Given the description of an element on the screen output the (x, y) to click on. 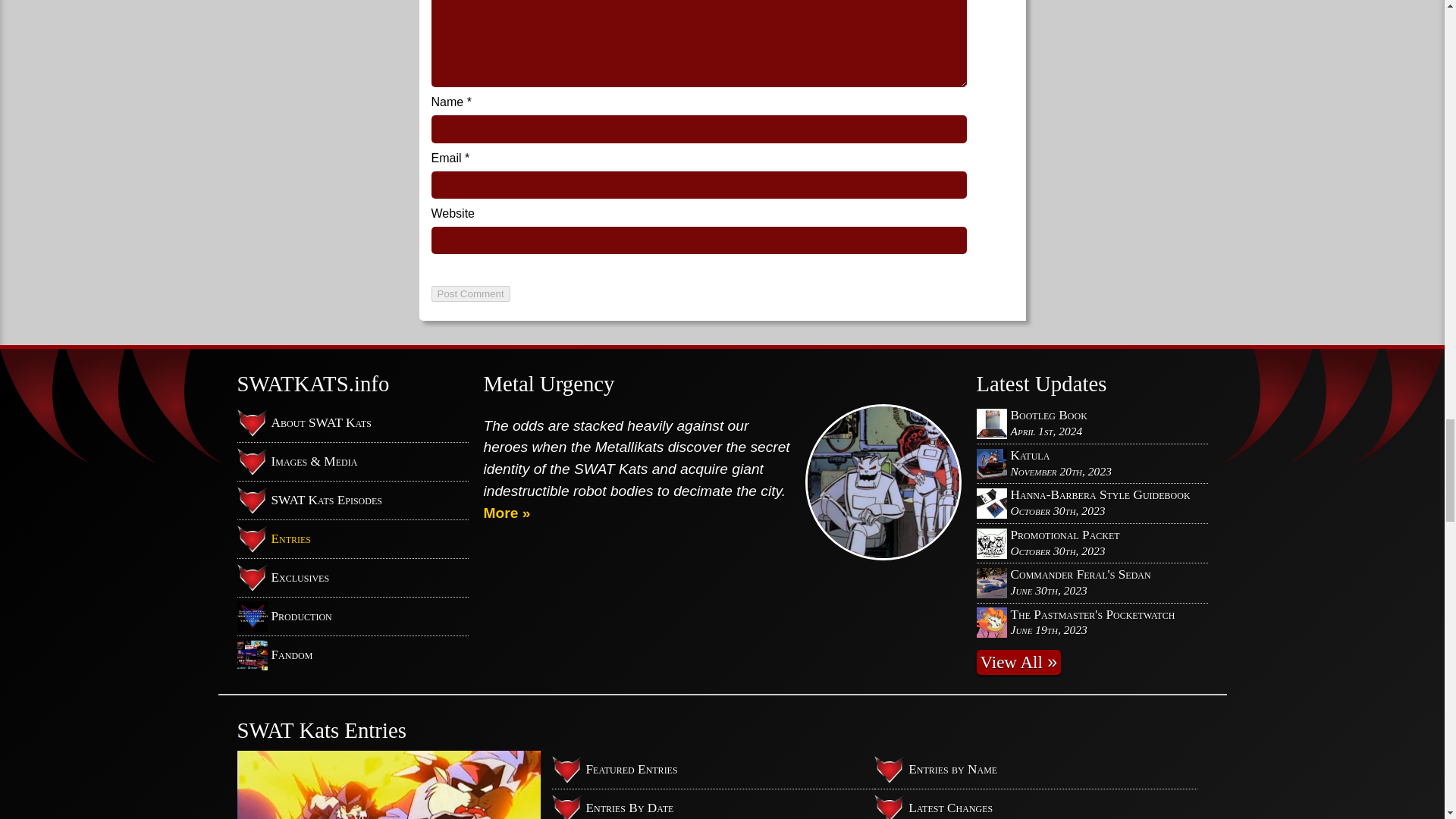
Post Comment (469, 293)
